Given the description of an element on the screen output the (x, y) to click on. 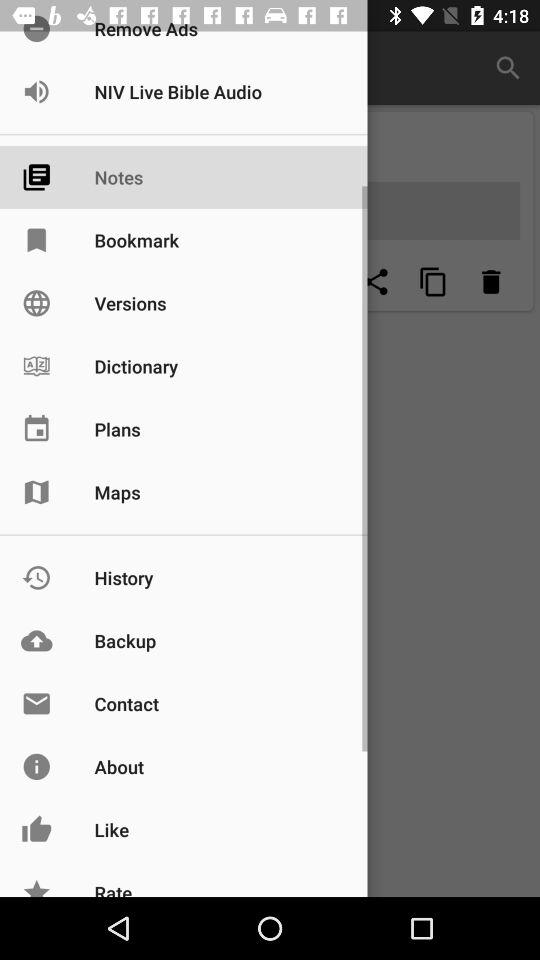
zoom page (433, 281)
